Given the description of an element on the screen output the (x, y) to click on. 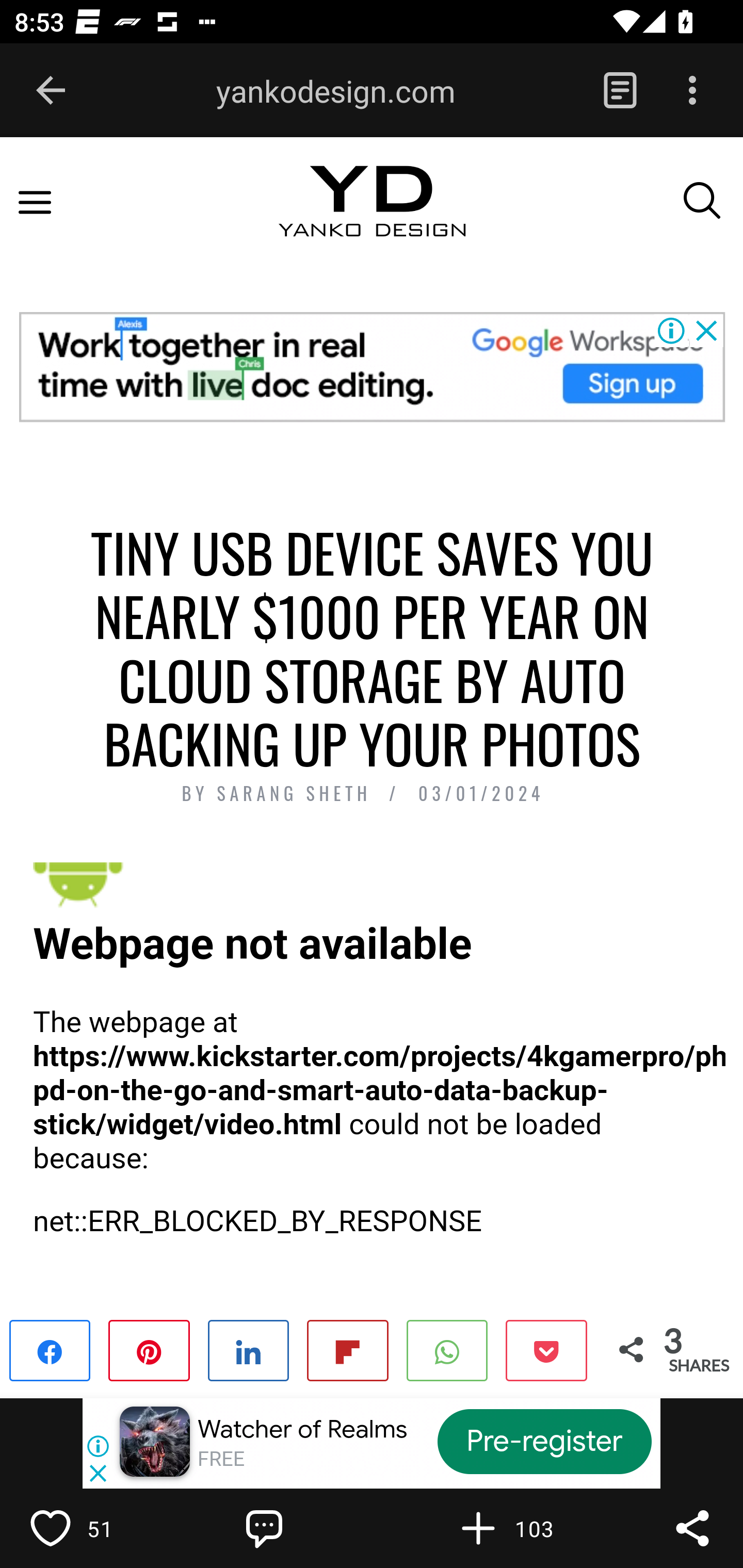
Back (50, 90)
Reader View (619, 90)
Options (692, 90)
Yanko Design - Modern Industrial Design News (371, 218)
Advertisement (371, 366)
SARANG SHETH (298, 794)
k Share k Share (50, 1348)
A Pin A Pin (148, 1348)
s Share s Share (249, 1348)
m Flip m Flip (346, 1348)
T WhatsApp T WhatsApp (447, 1348)
C Pocket C Pocket (545, 1348)
Pre-register (544, 1441)
Watcher of Realms (302, 1428)
FREE (221, 1458)
Like 51 (93, 1528)
Write a comment… (307, 1528)
Flip into Magazine 103 (521, 1528)
Share (692, 1528)
